Given the description of an element on the screen output the (x, y) to click on. 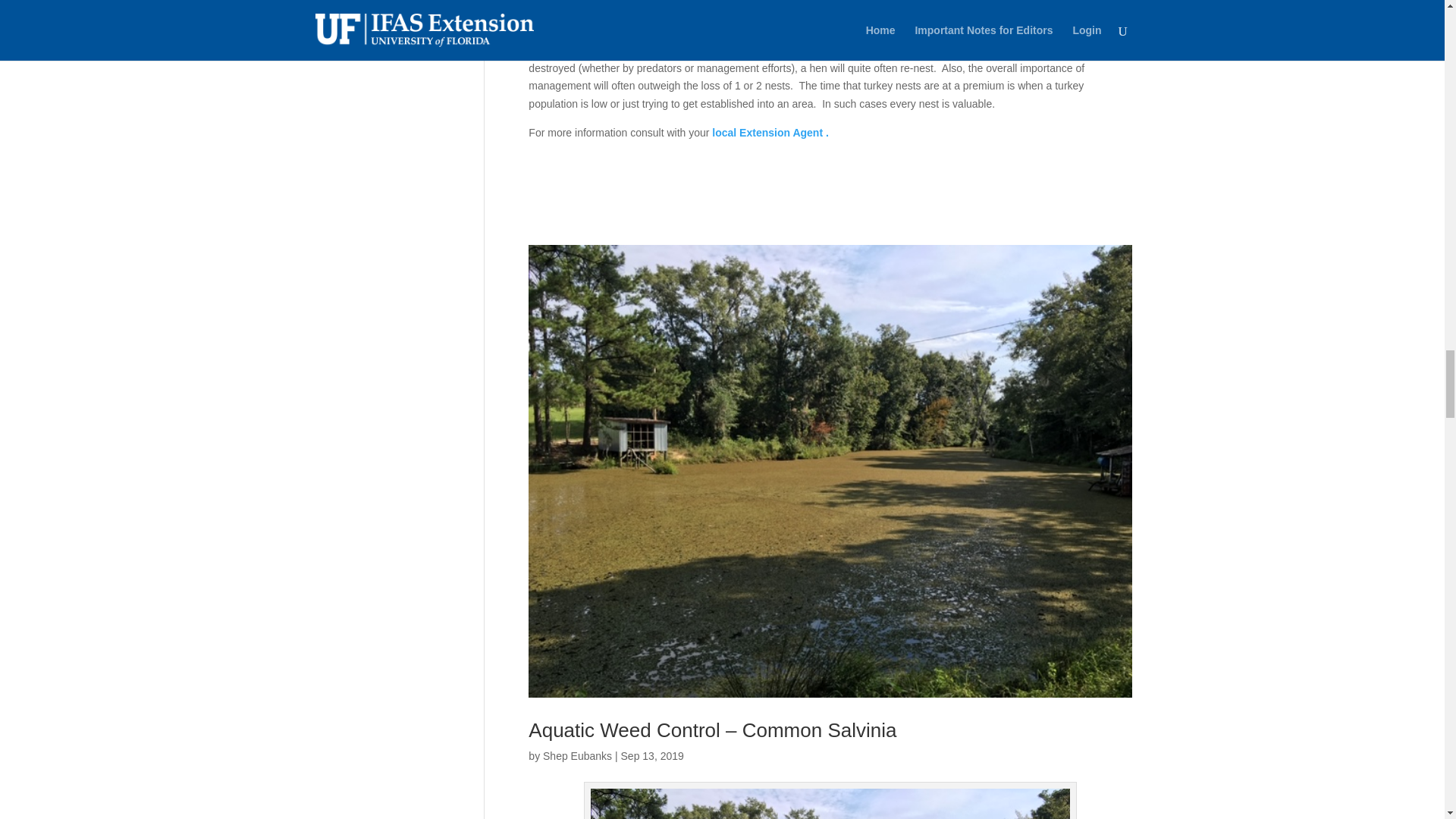
Posts by Shep Eubanks (577, 756)
Shep Eubanks (577, 756)
local Extension Agent . (768, 132)
